Given the description of an element on the screen output the (x, y) to click on. 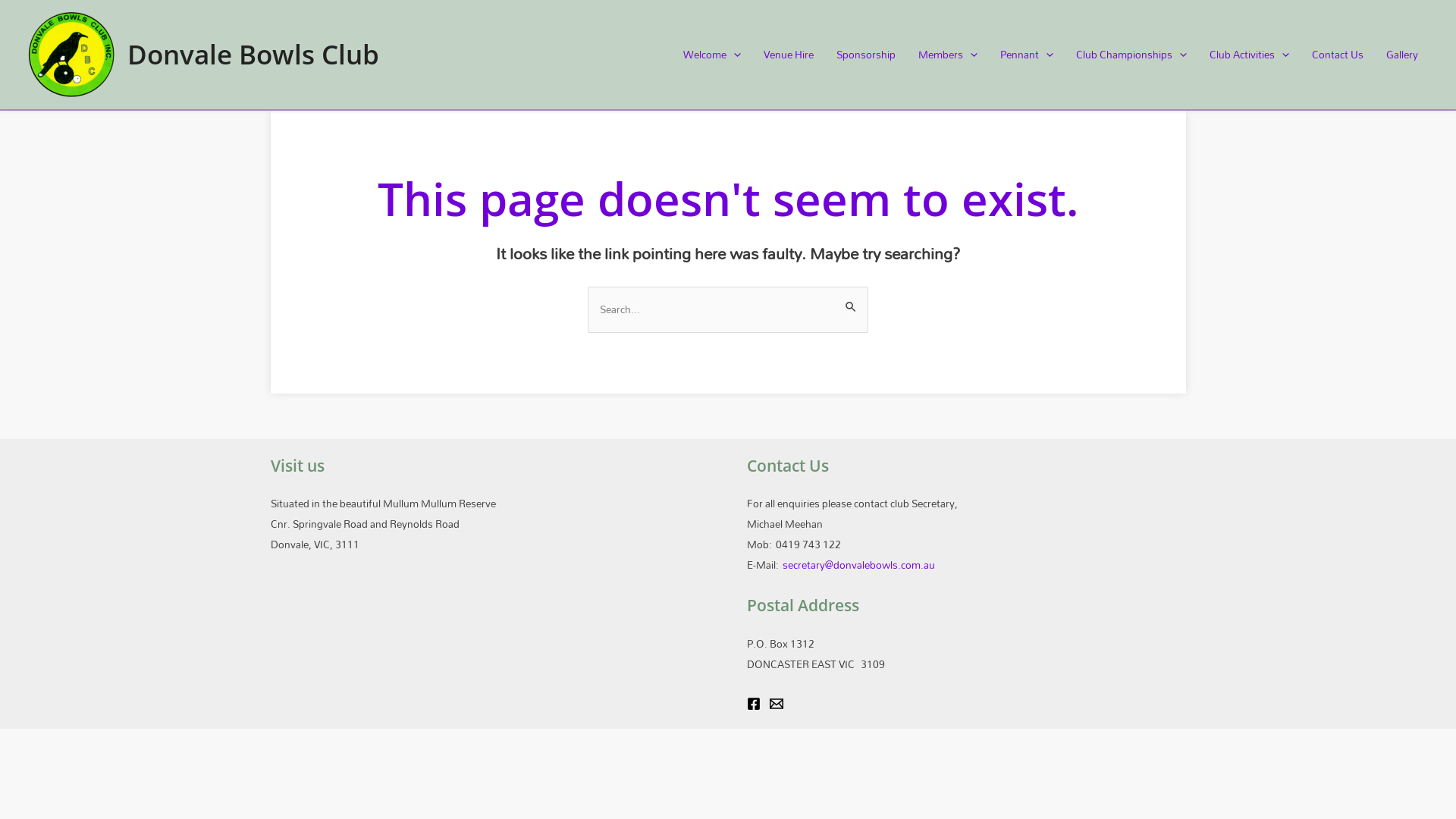
Sponsorship Element type: text (865, 54)
Venue Hire Element type: text (788, 54)
Search Element type: text (851, 301)
Members Element type: text (947, 54)
Welcome Element type: text (711, 54)
Donvale Bowls Club Element type: text (253, 54)
Contact Us Element type: text (1337, 54)
Club Activities Element type: text (1249, 54)
Club Championships Element type: text (1131, 54)
Gallery Element type: text (1401, 54)
Pennant Element type: text (1026, 54)
secretary@donvalebowls.com.au Element type: text (858, 564)
